Given the description of an element on the screen output the (x, y) to click on. 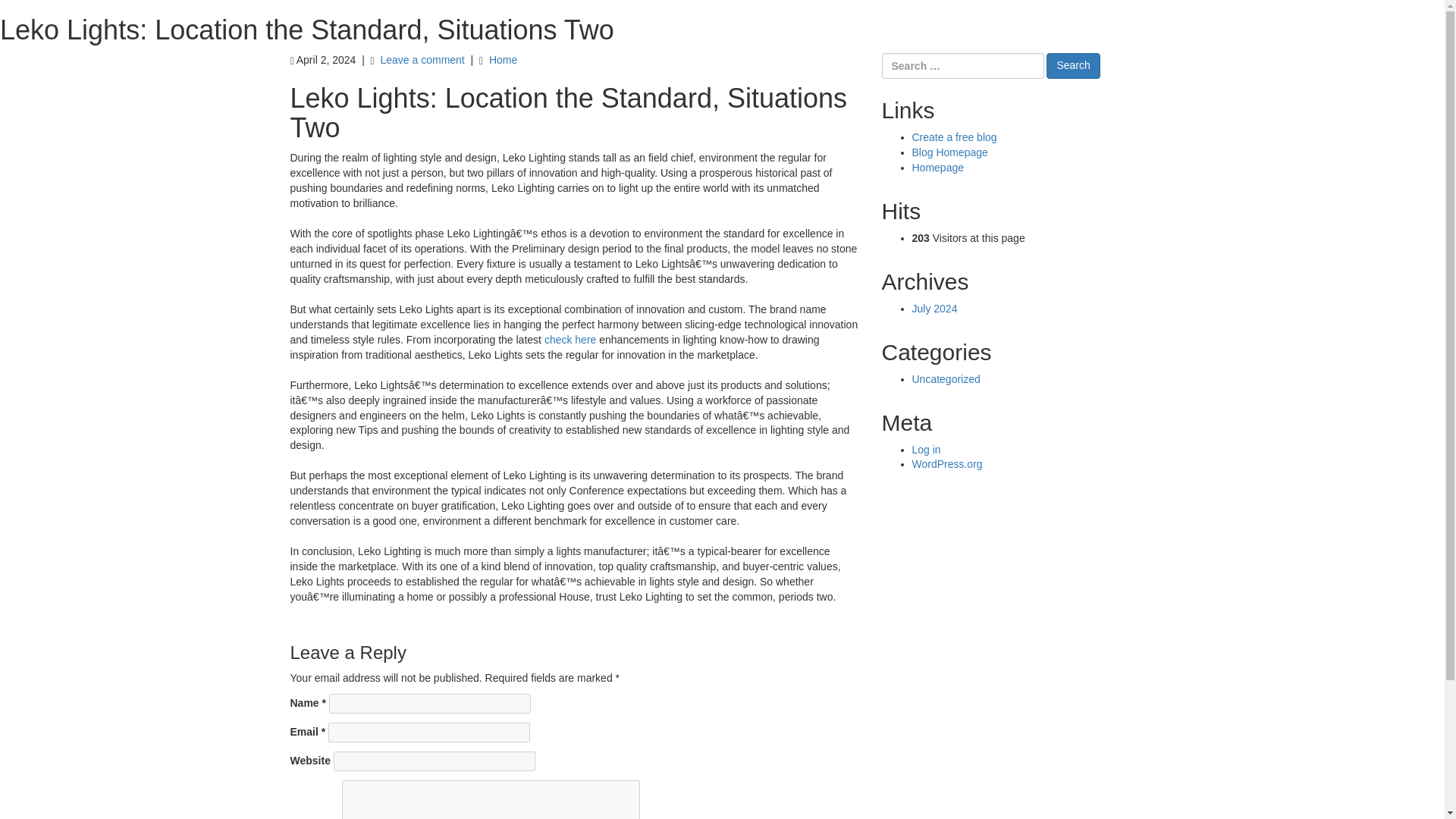
Leave a comment (422, 60)
Search (1072, 65)
WordPress.org (946, 463)
Search (1072, 65)
Home (502, 60)
check here (569, 339)
Blog Homepage (949, 152)
Log in (925, 449)
Homepage (937, 167)
Create a free blog (953, 137)
Uncategorized (945, 378)
Search (1072, 65)
July 2024 (933, 308)
